Given the description of an element on the screen output the (x, y) to click on. 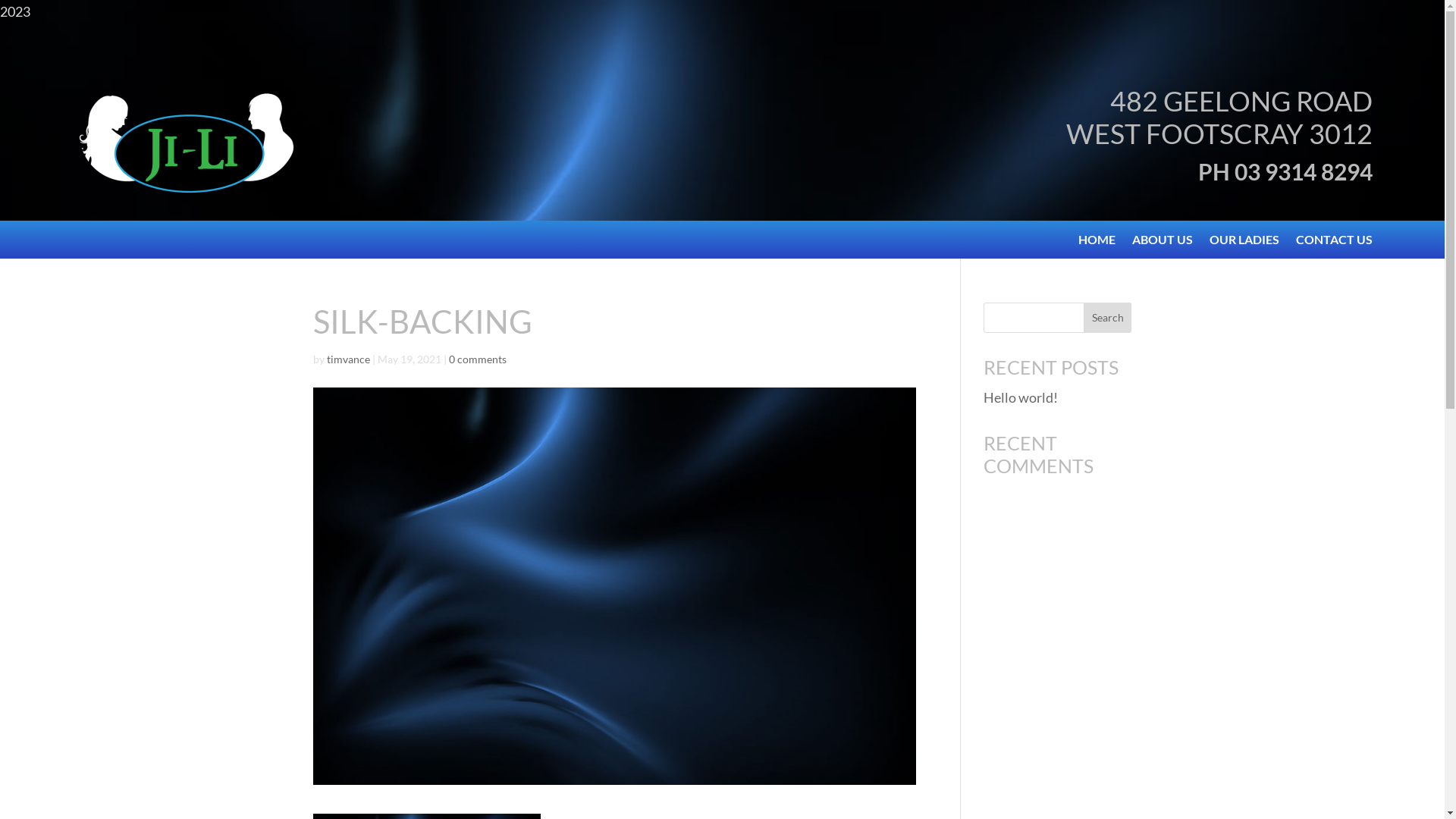
0 comments Element type: text (477, 358)
HOME Element type: text (1096, 242)
ABOUT US Element type: text (1162, 242)
03 9314 8294 Element type: text (1303, 171)
JI-LI-LOGO-white-heads Element type: hover (185, 140)
Hello world! Element type: text (1020, 397)
OUR LADIES Element type: text (1244, 242)
timvance Element type: text (347, 358)
Search Element type: text (1107, 317)
CONTACT US Element type: text (1333, 242)
